Given the description of an element on the screen output the (x, y) to click on. 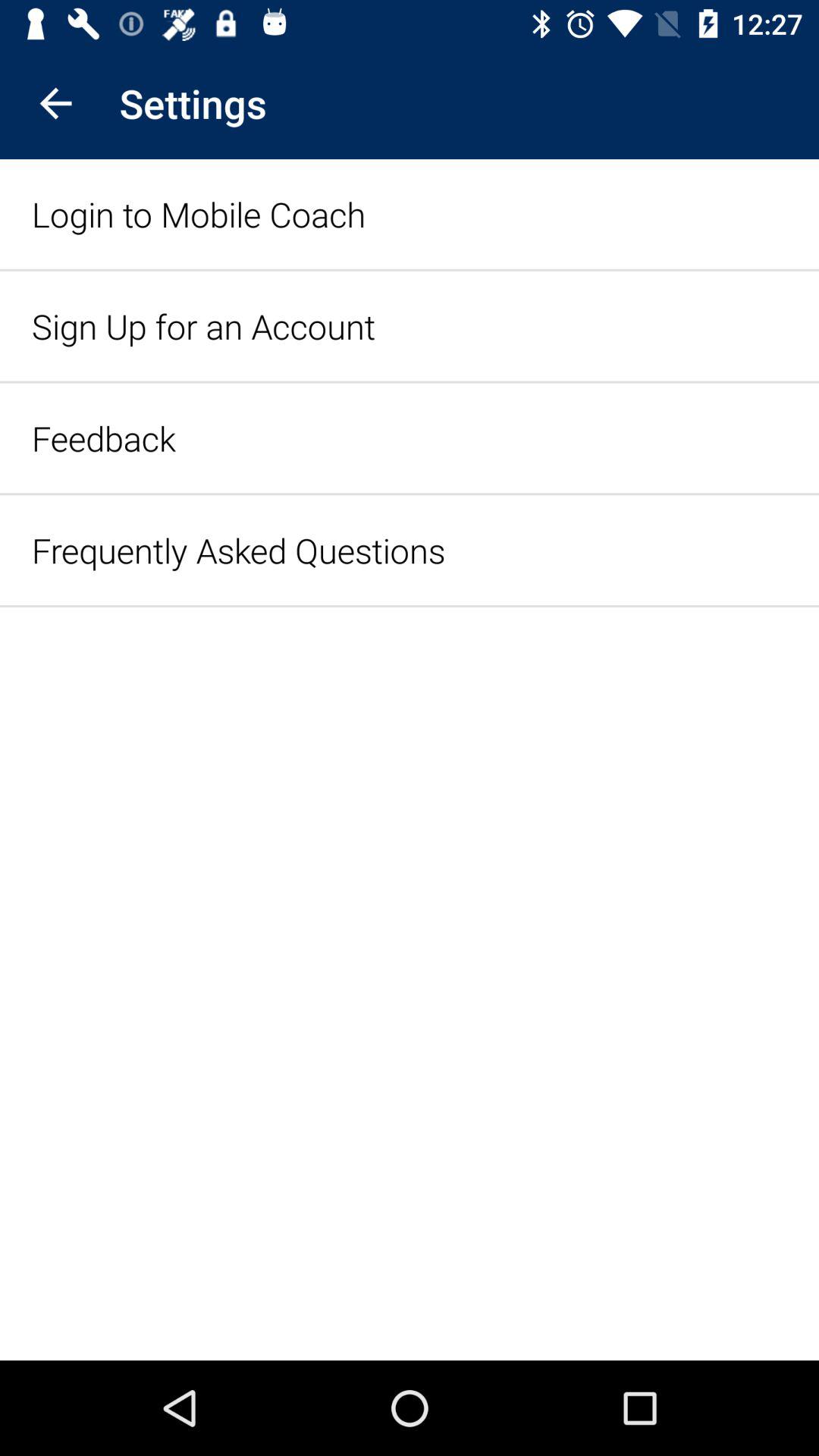
tap item below sign up for (103, 438)
